Given the description of an element on the screen output the (x, y) to click on. 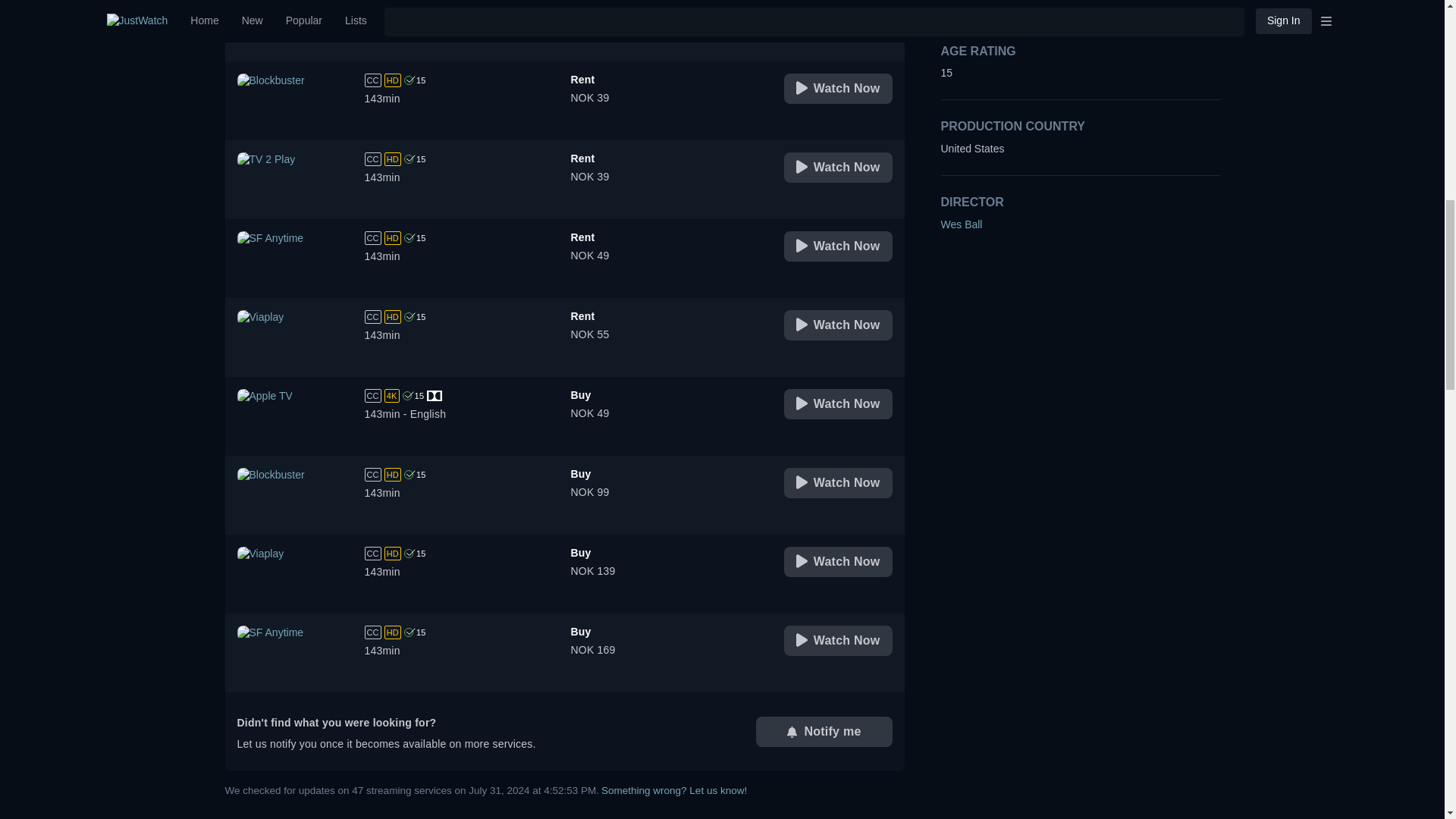
Watch Now (564, 30)
Watch Now (564, 179)
